Given the description of an element on the screen output the (x, y) to click on. 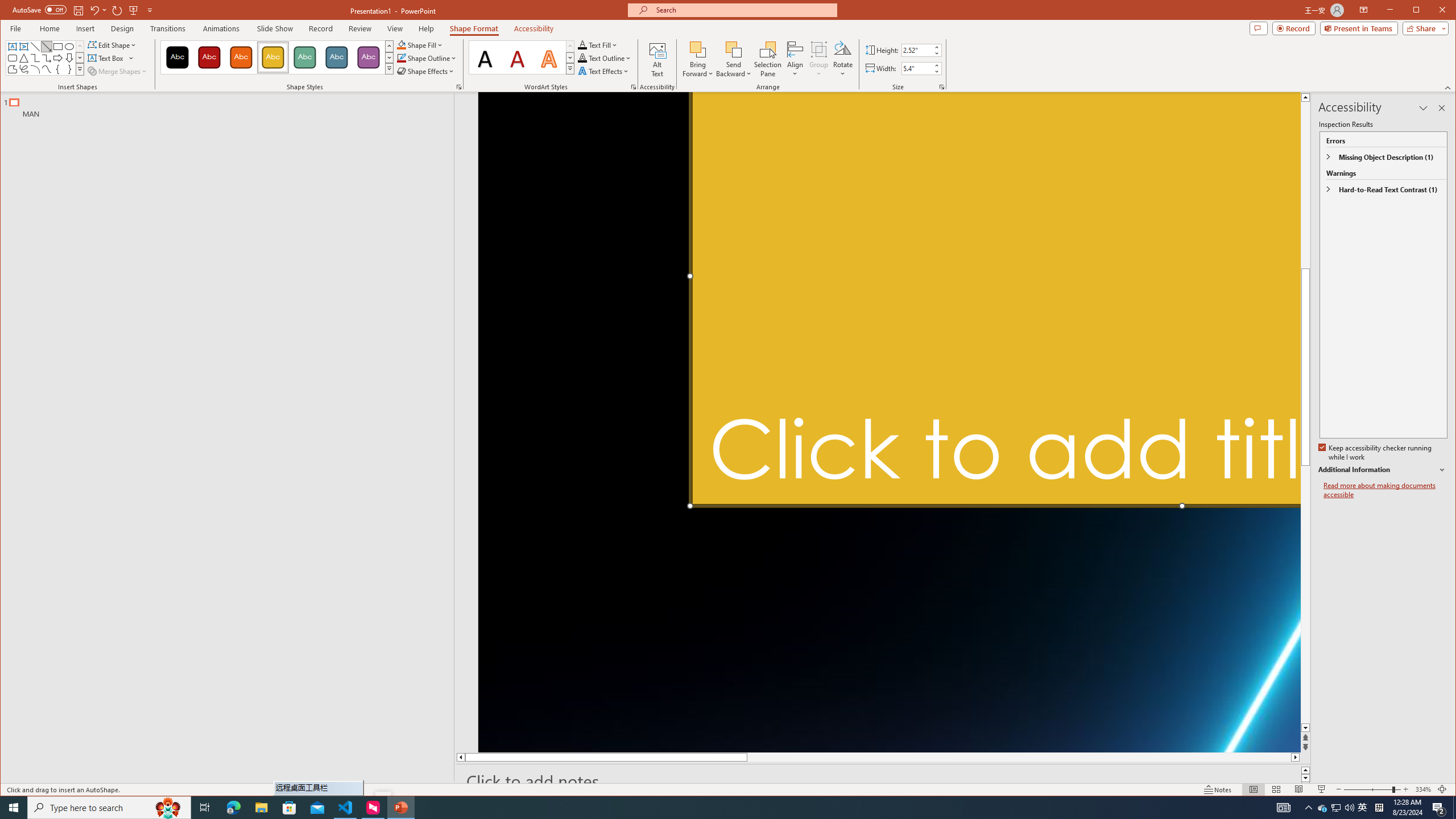
Format Text Effects... (1322, 807)
Merge Shapes (632, 86)
